Given the description of an element on the screen output the (x, y) to click on. 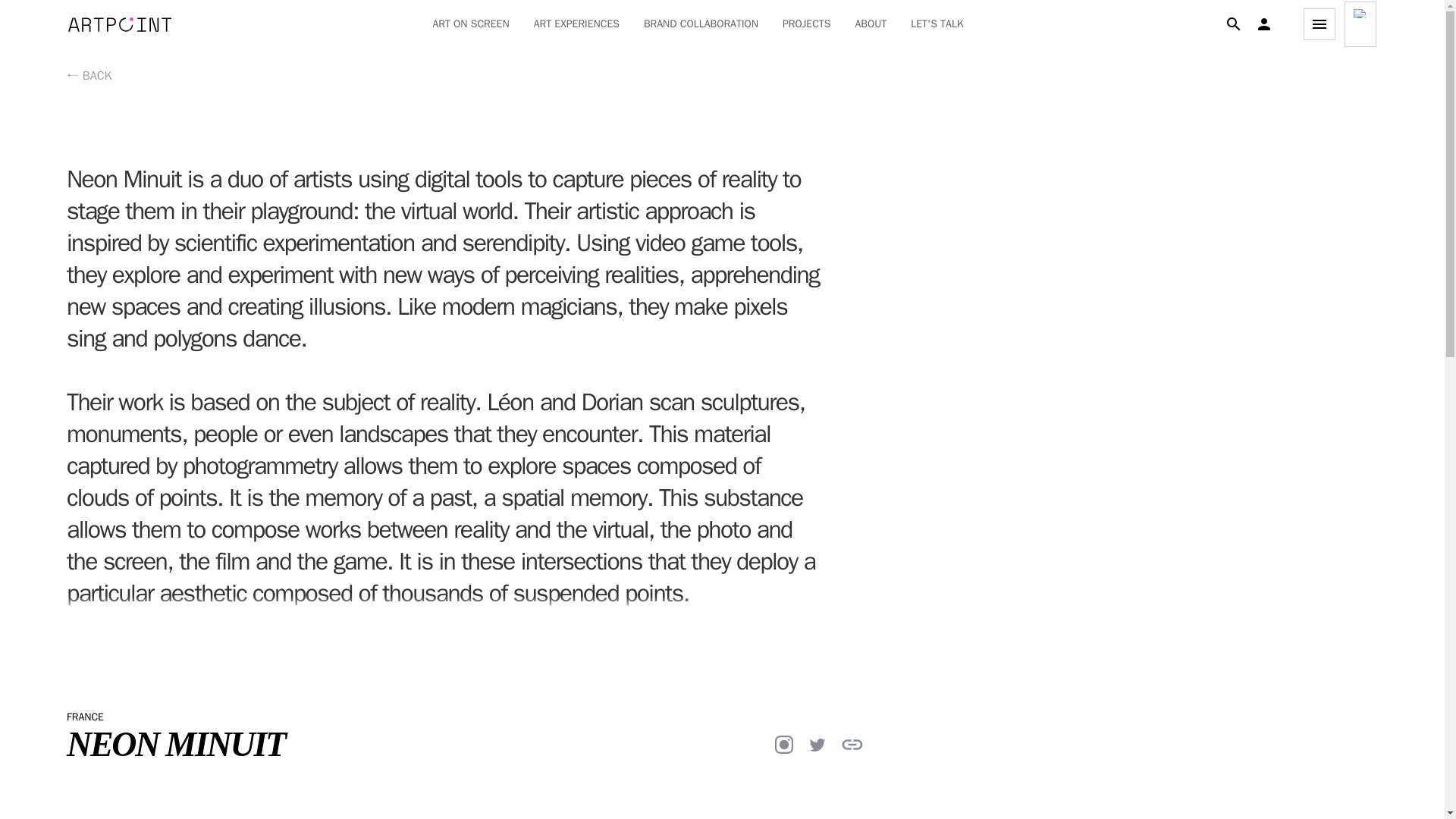
ABOUT (870, 23)
BRAND COLLABORATION (700, 23)
ART ON SCREEN (470, 23)
LET'S TALK (936, 23)
PROJECTS (806, 23)
ART EXPERIENCES (576, 23)
